Given the description of an element on the screen output the (x, y) to click on. 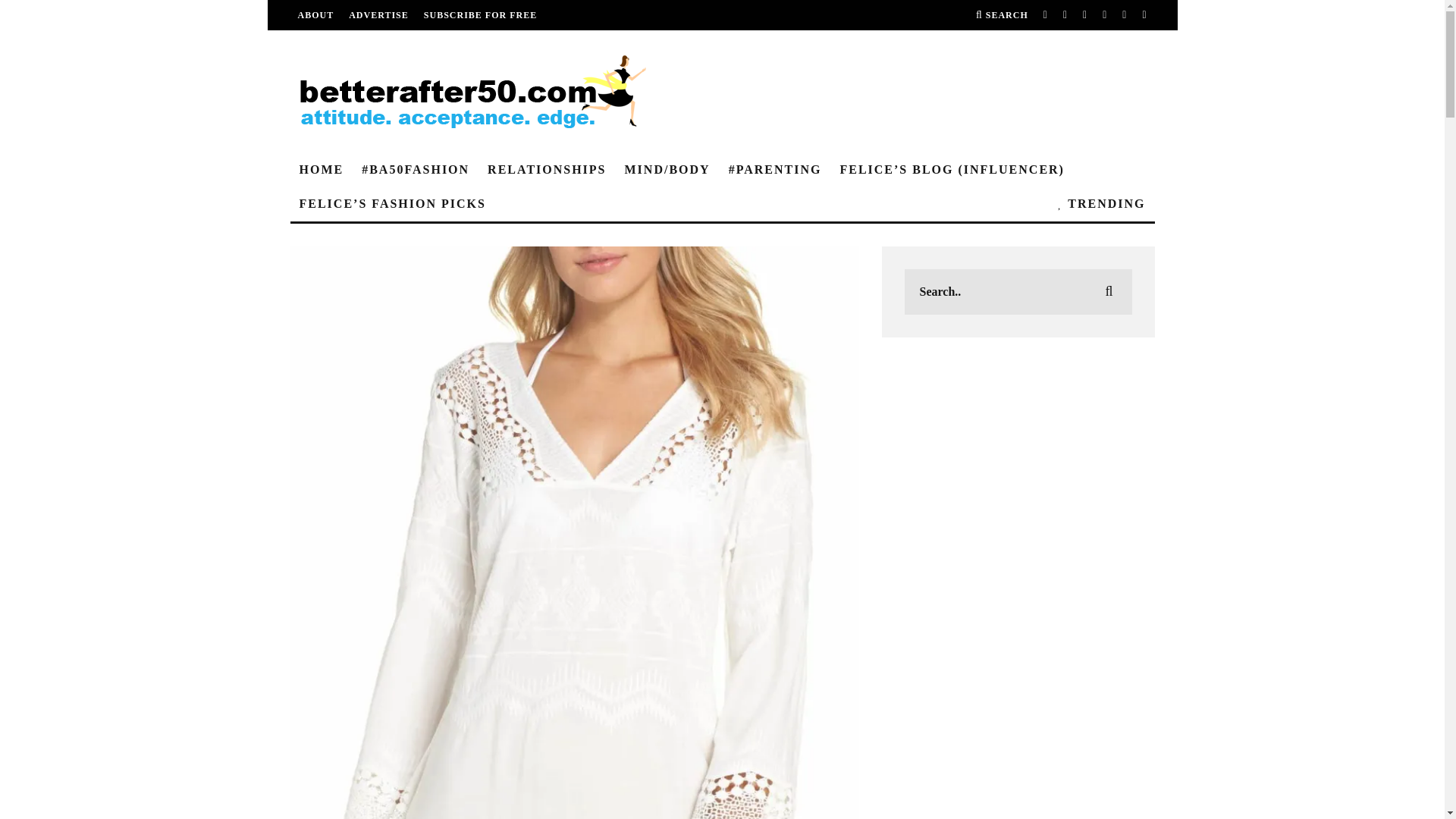
Search (1001, 15)
HOME (320, 170)
SUBSCRIBE FOR FREE (480, 15)
SEARCH (1001, 15)
RELATIONSHIPS (546, 170)
ADVERTISE (379, 15)
ABOUT (315, 15)
